Given the description of an element on the screen output the (x, y) to click on. 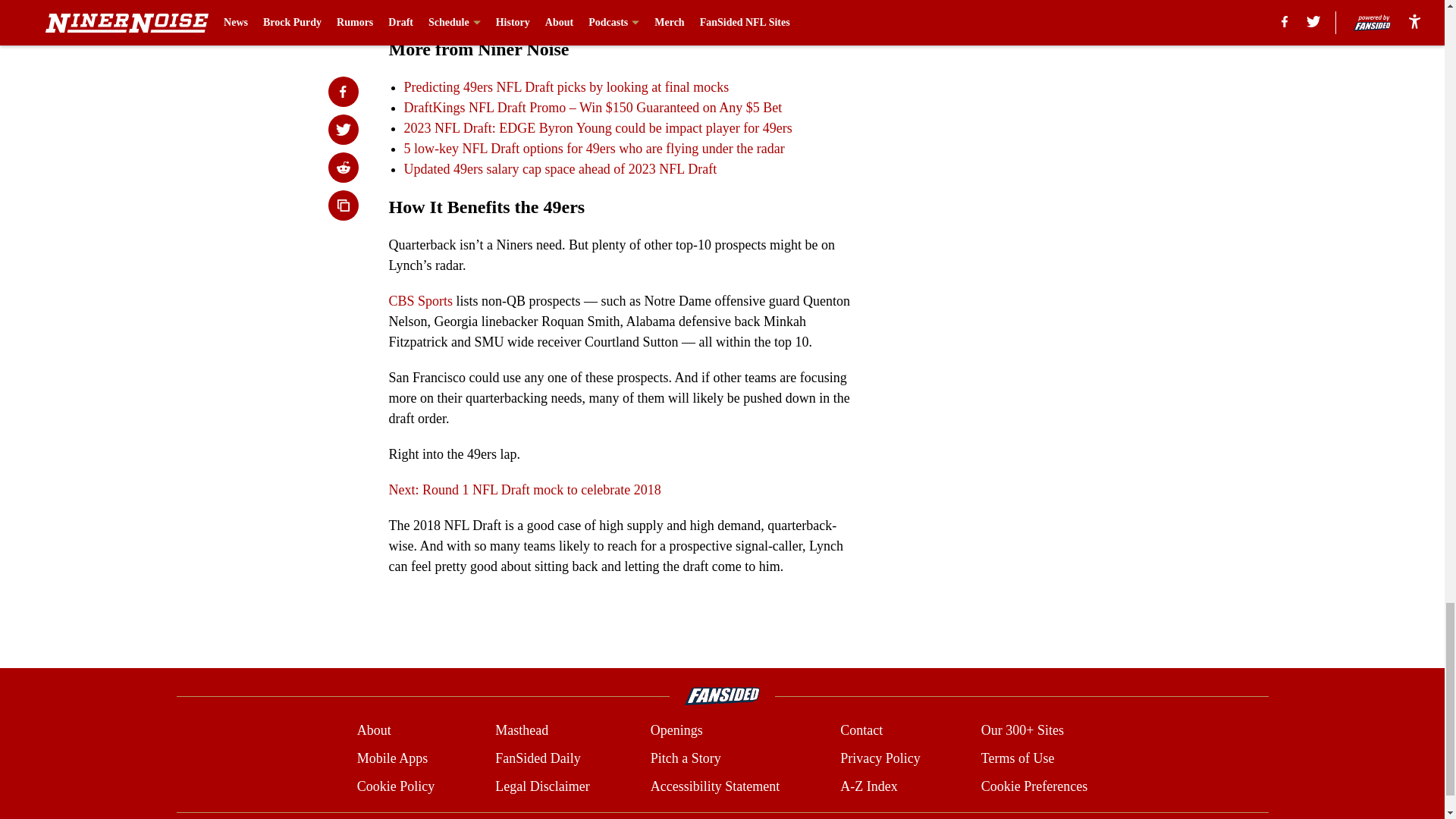
Next: Round 1 NFL Draft mock to celebrate 2018 (524, 489)
Openings (676, 730)
CBS Sports (420, 300)
Predicting 49ers NFL Draft picks by looking at final mocks (566, 87)
Mobile Apps (392, 758)
Updated 49ers salary cap space ahead of 2023 NFL Draft (559, 168)
Contact (861, 730)
About (373, 730)
